Given the description of an element on the screen output the (x, y) to click on. 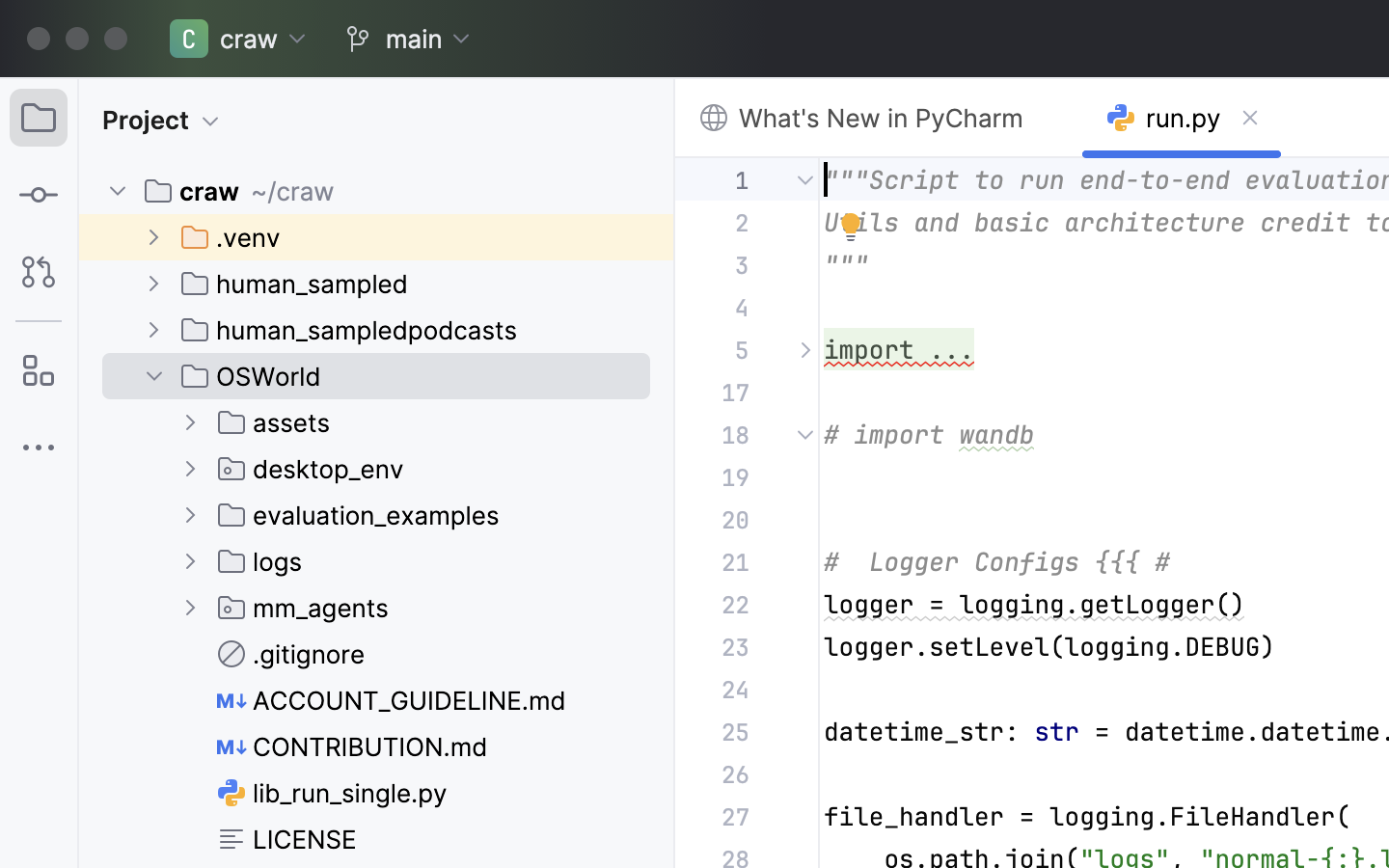
0 Element type: AXGroup (319, 38)
human_sampled Element type: AXStaticText (294, 283)
evaluation_examples Element type: AXStaticText (358, 514)
OSWorld Element type: AXStaticText (251, 375)
0 Element type: AXStaticText (239, 190)
